Given the description of an element on the screen output the (x, y) to click on. 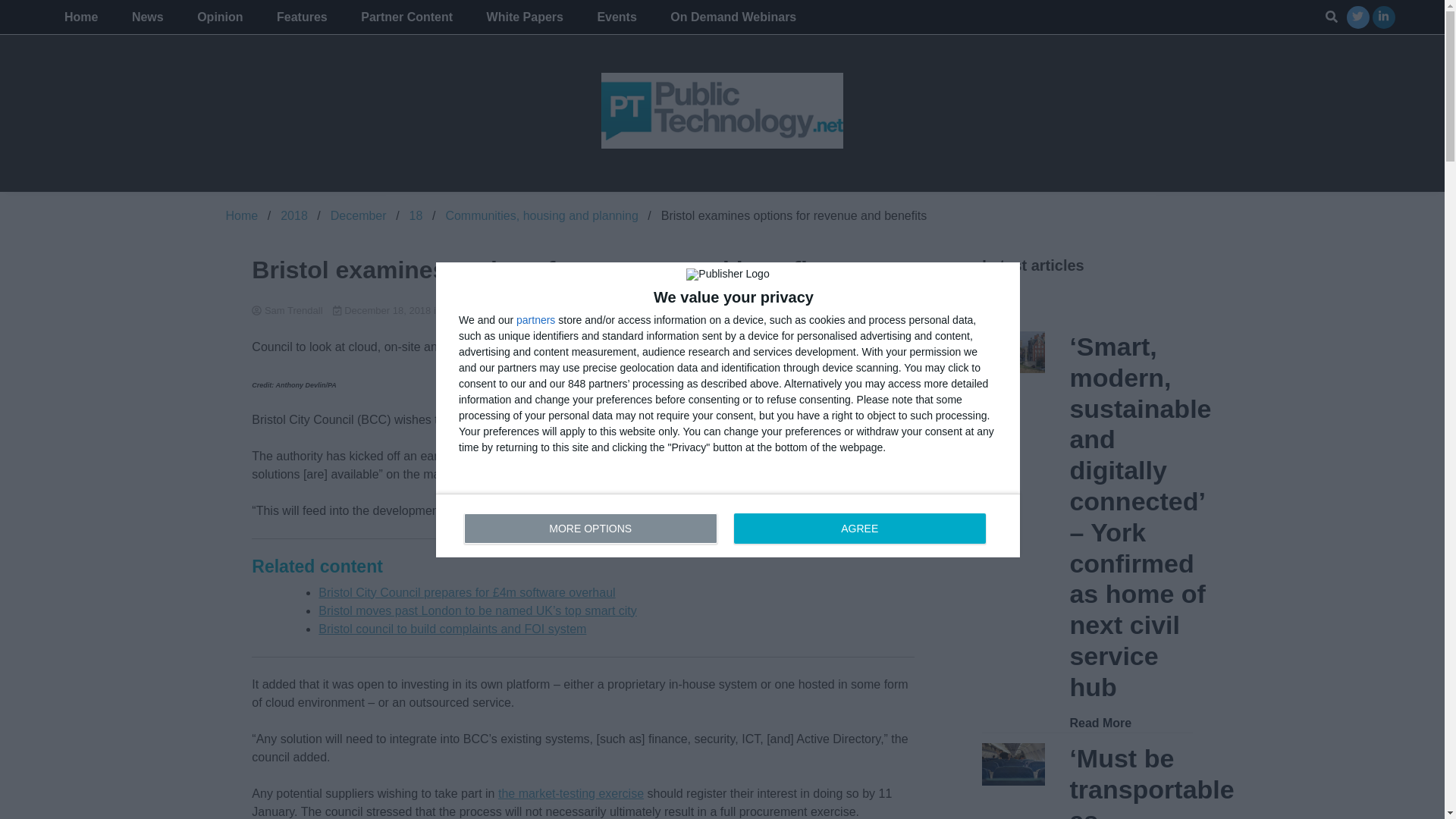
Communities, housing and planning (541, 215)
On Demand Webinars (732, 17)
AGREE (859, 527)
Bristol council to build complaints and FOI system (452, 628)
Events (615, 17)
December 18, 2018 (383, 310)
December (358, 215)
Opinion (219, 17)
the market-testing exercise (570, 793)
Home (242, 215)
MORE OPTIONS (590, 527)
18 (416, 215)
Sam Trendall (582, 310)
Transformation (727, 524)
